Given the description of an element on the screen output the (x, y) to click on. 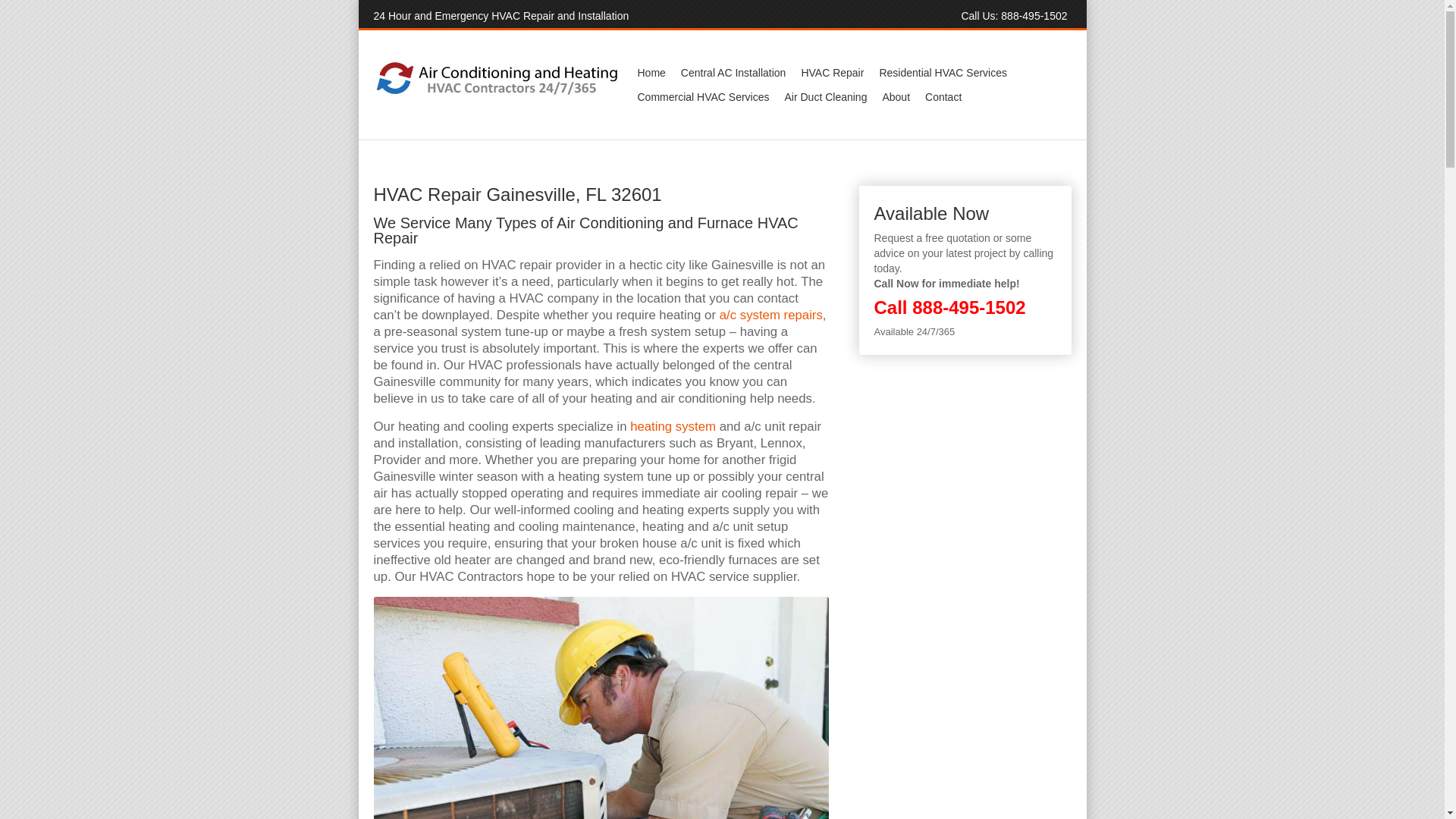
heating system (673, 426)
Commercial HVAC Services (702, 96)
888-495-1502 (1034, 15)
Residential HVAC Services (942, 72)
Air Duct Cleaning (824, 96)
Contact (943, 96)
Central AC Installation (733, 72)
Home (650, 72)
888-495-1502 (968, 307)
HVAC Repair (831, 72)
HVAC Repair Gainesville Florida (600, 708)
About (895, 96)
